Given the description of an element on the screen output the (x, y) to click on. 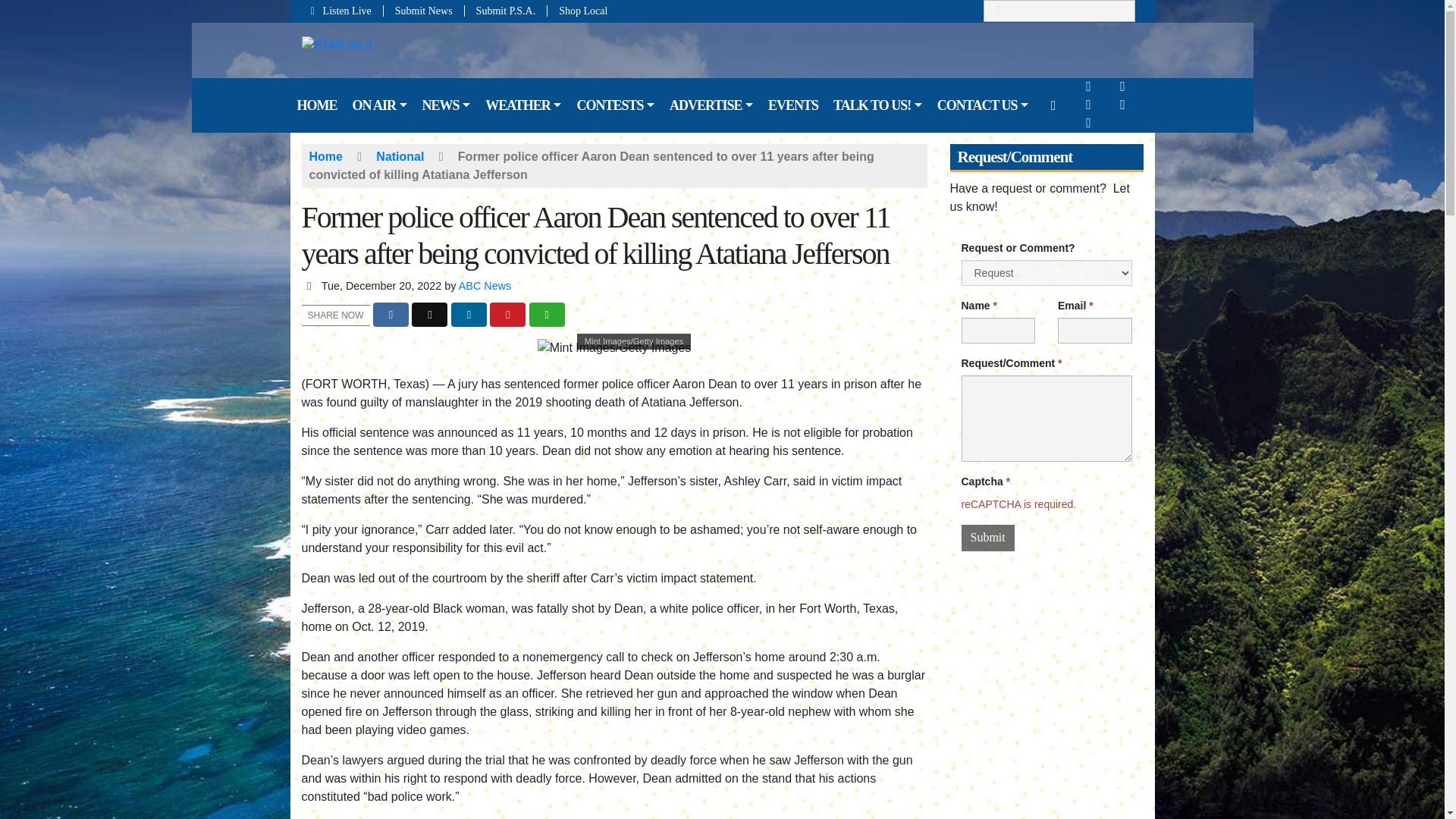
Search for: (1059, 11)
